Given the description of an element on the screen output the (x, y) to click on. 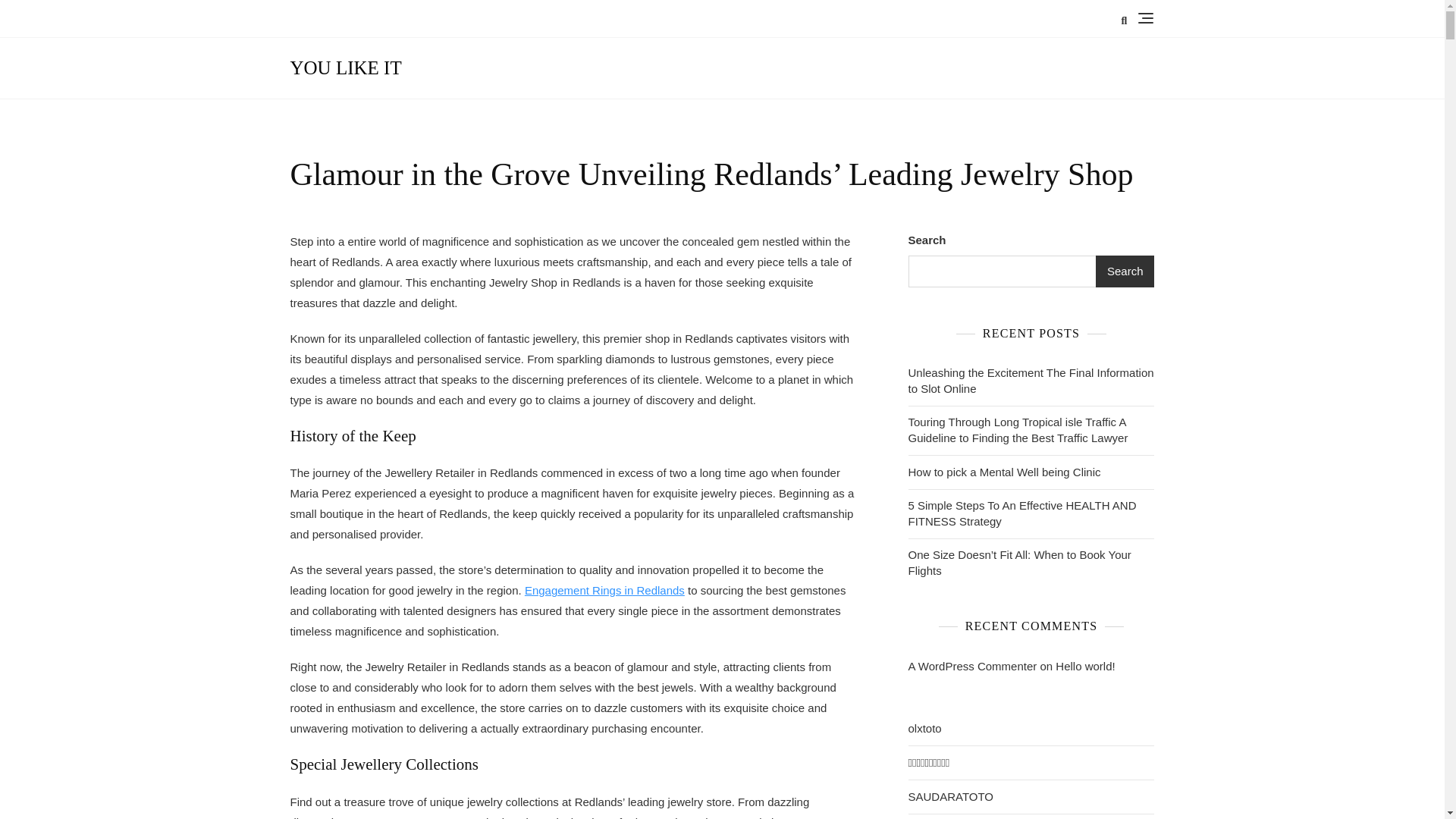
Engagement Rings in Redlands (604, 590)
5 Simple Steps To An Effective HEALTH AND FITNESS Strategy (1031, 513)
YOU LIKE IT (345, 67)
Search (1125, 271)
How to pick a Mental Well being Clinic (1004, 471)
